Given the description of an element on the screen output the (x, y) to click on. 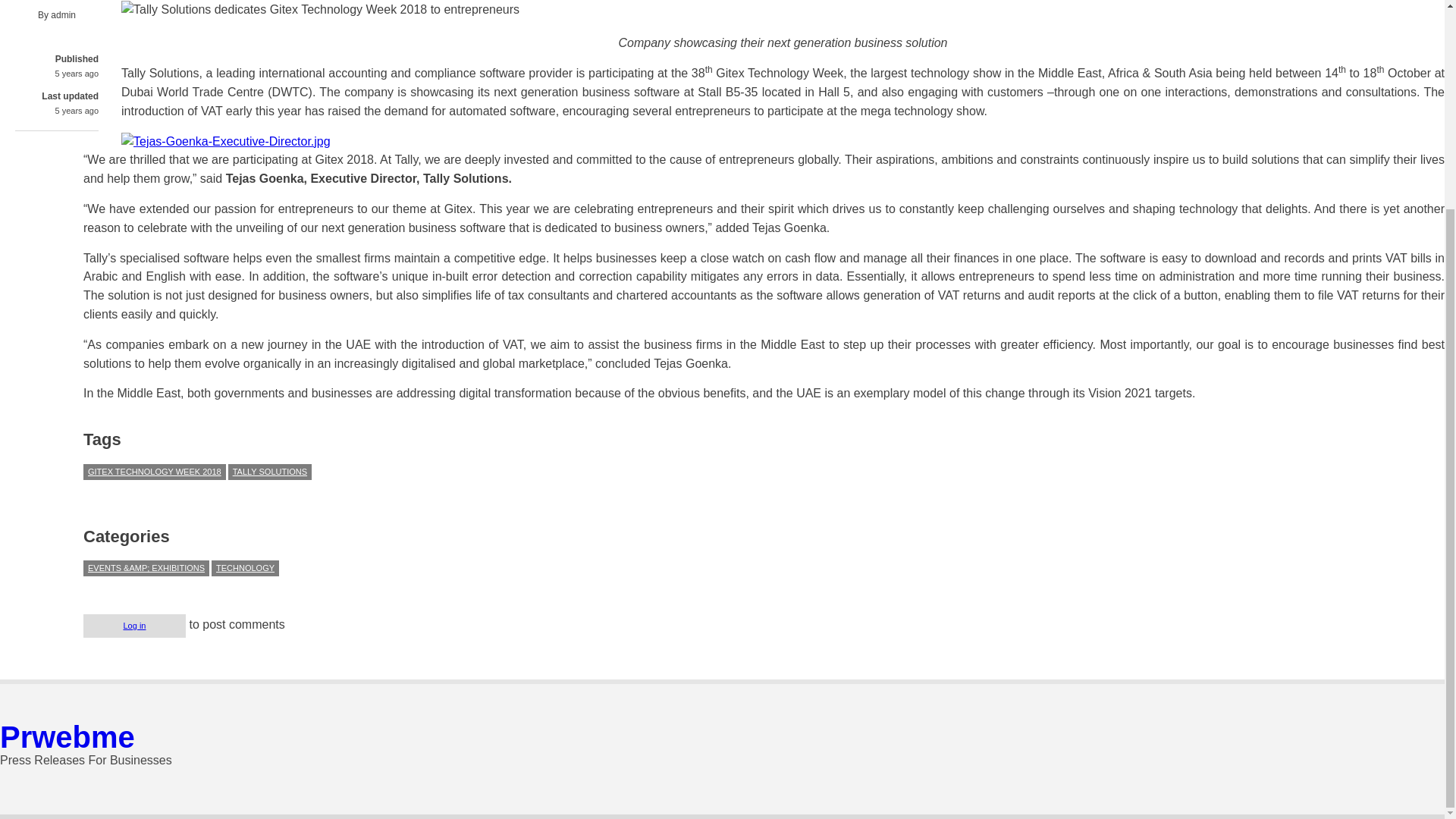
TALLY SOLUTIONS (269, 471)
Home (67, 736)
GITEX TECHNOLOGY WEEK 2018 (153, 471)
